Given the description of an element on the screen output the (x, y) to click on. 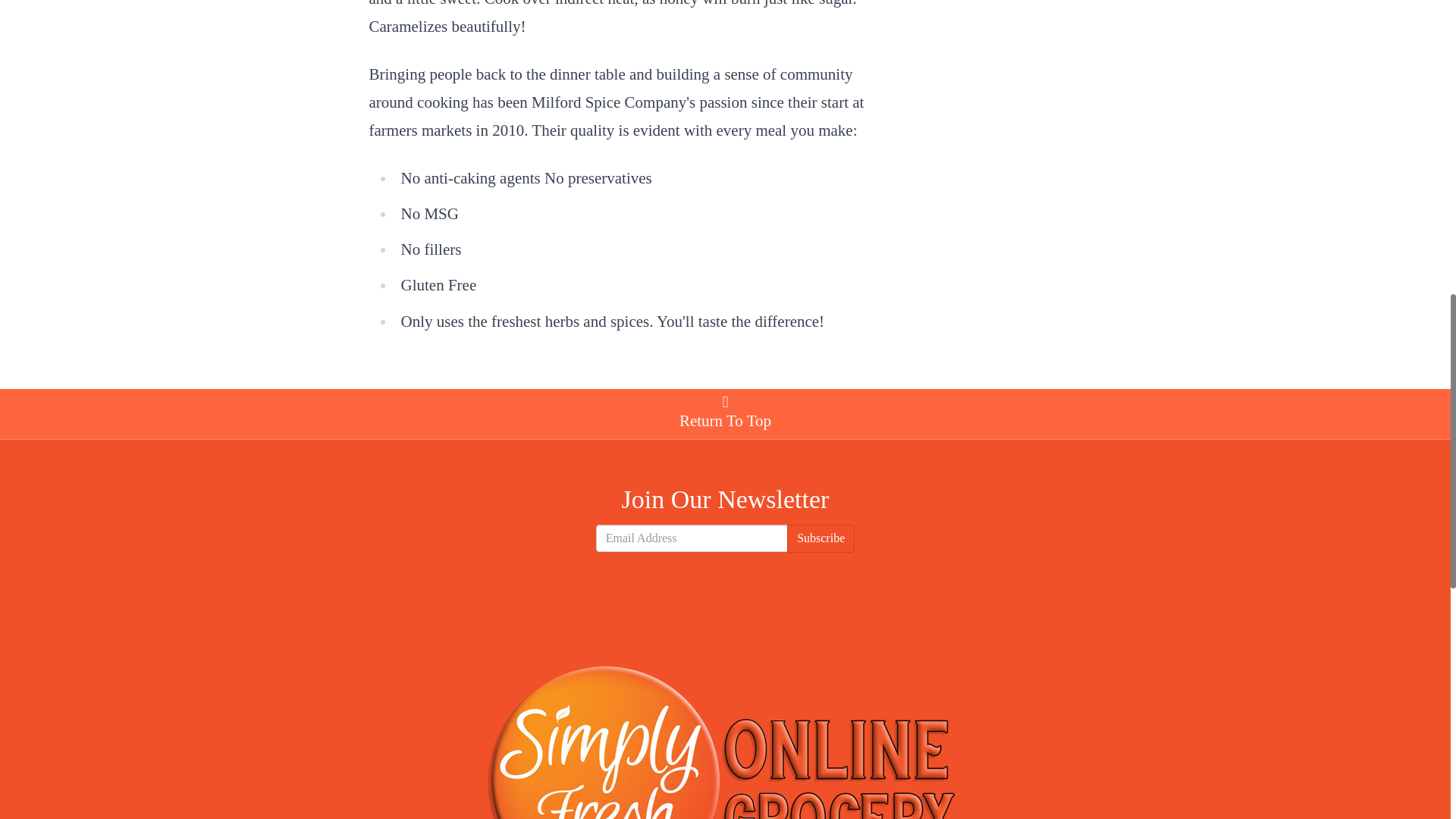
Return To Top (724, 413)
Subscribe (820, 538)
